Given the description of an element on the screen output the (x, y) to click on. 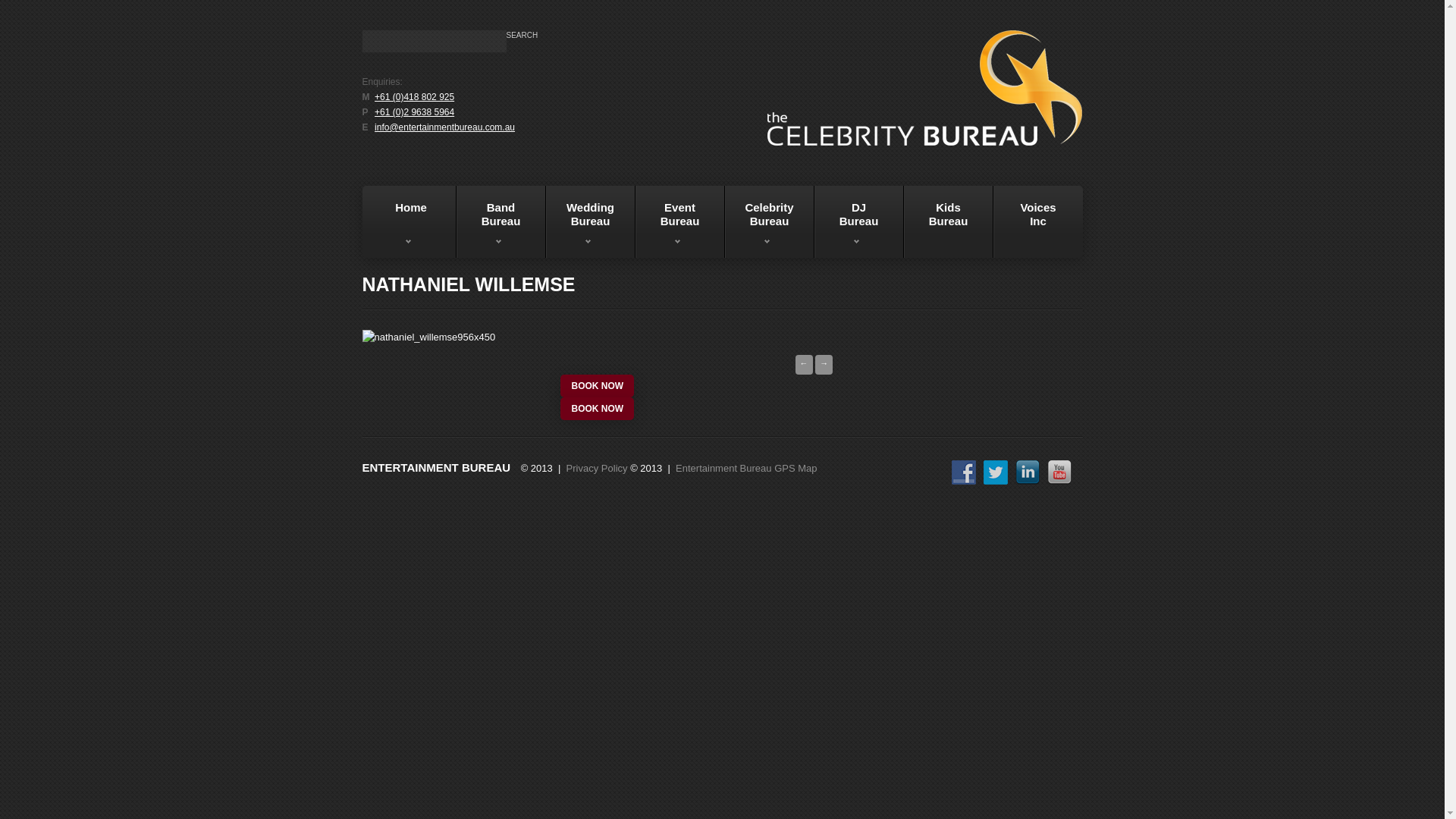
Entertainment Bureau GPS Map Element type: text (745, 467)
+61 (0)2 9638 5964 Element type: text (414, 111)
Privacy Policy Element type: text (596, 467)
Kids
Bureau Element type: text (948, 221)
ENTERTAINMENT BUREAU Element type: text (436, 467)
 Twitter Element type: hover (994, 472)
BOOK NOW Element type: text (596, 408)
Search Element type: text (522, 35)
BOOK NOW Element type: text (596, 385)
 YouTube Element type: hover (1058, 472)
+61 (0)418 802 925 Element type: text (414, 96)
 Facebook Element type: hover (962, 472)
Voices
Inc Element type: text (1037, 221)
 LinkedIn Element type: hover (1026, 472)
info@entertainmentbureau.com.au Element type: text (444, 127)
